Given the description of an element on the screen output the (x, y) to click on. 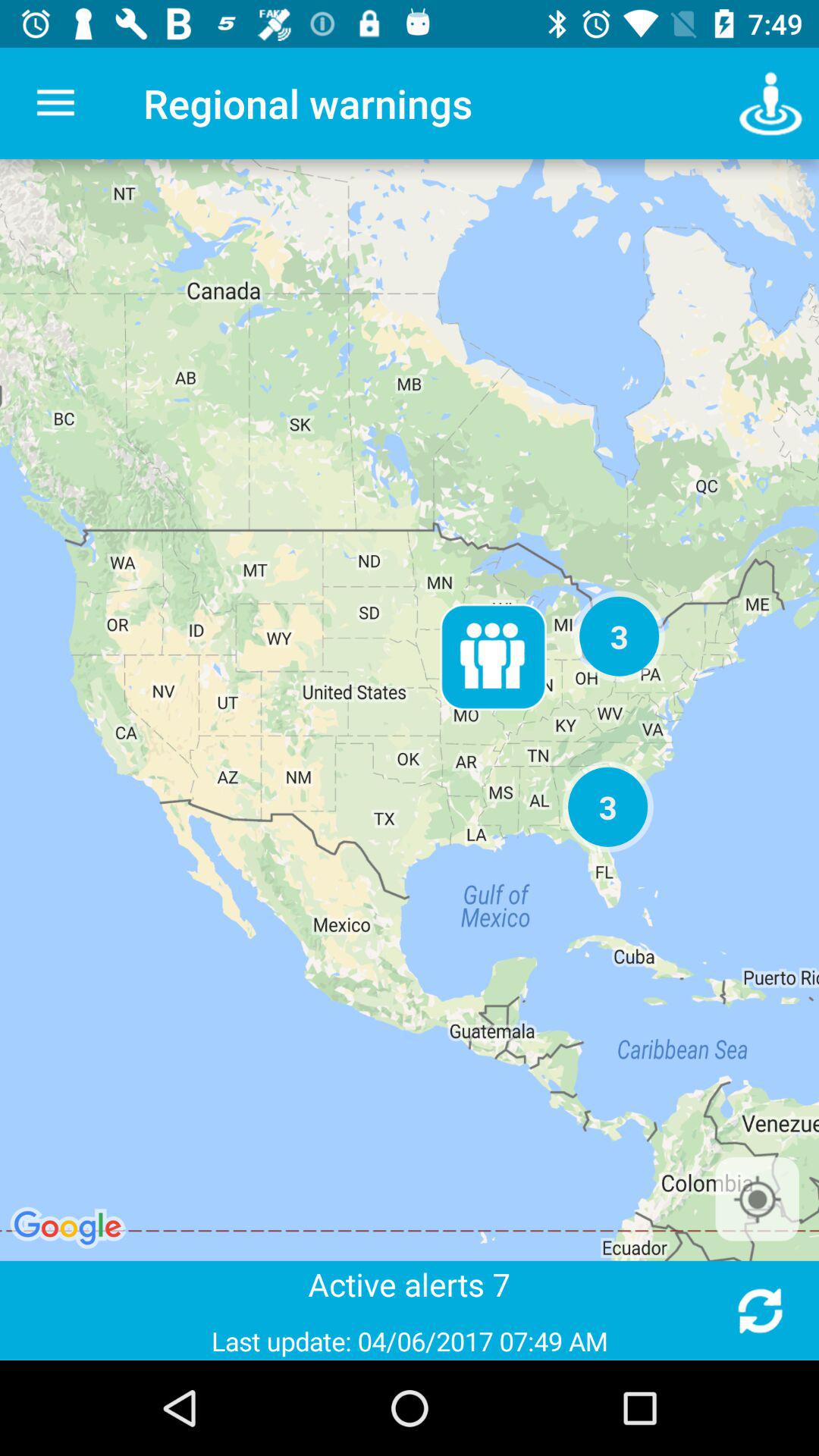
locate me (757, 1199)
